Given the description of an element on the screen output the (x, y) to click on. 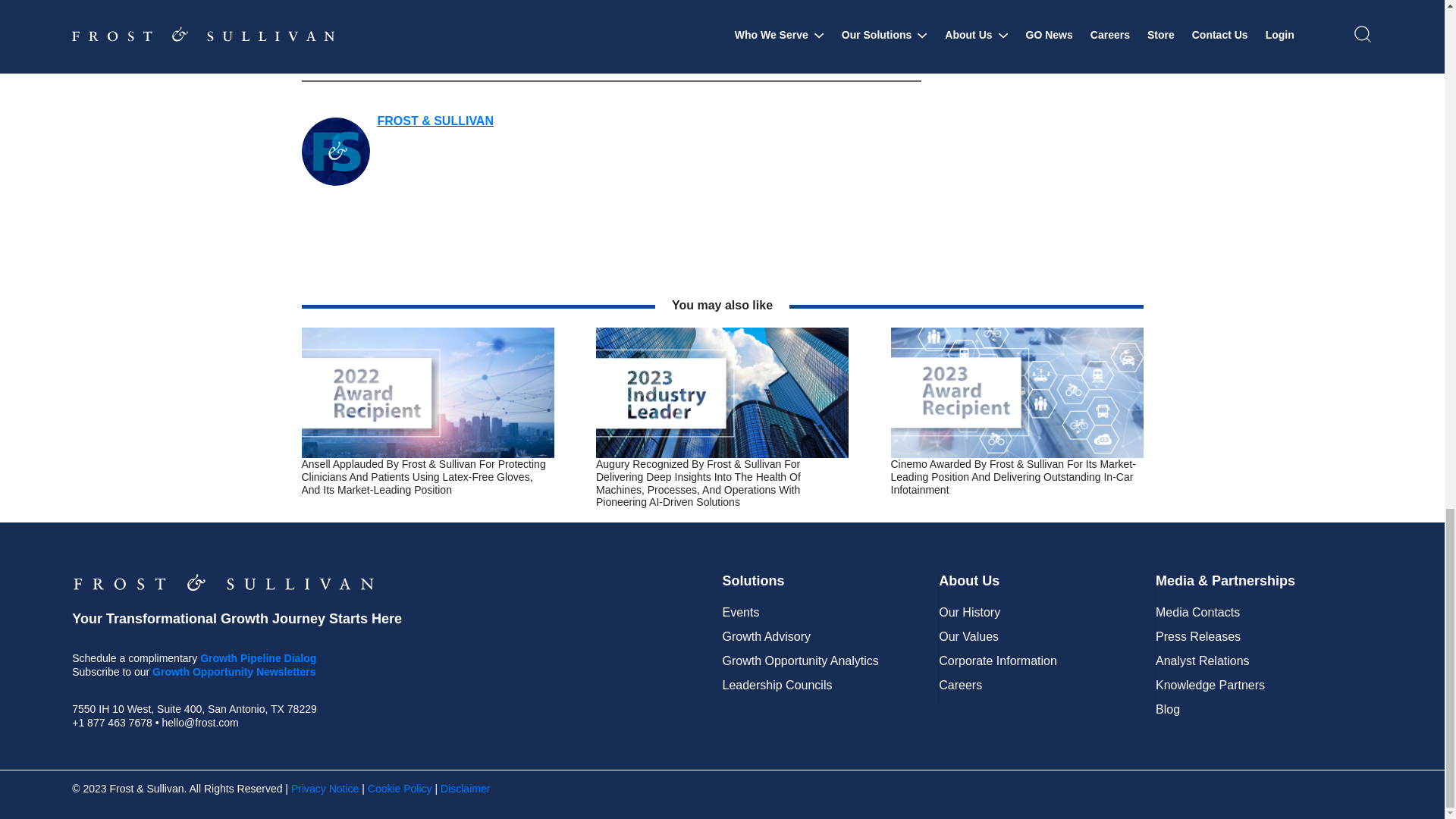
frostsullivanlogo (223, 581)
